Given the description of an element on the screen output the (x, y) to click on. 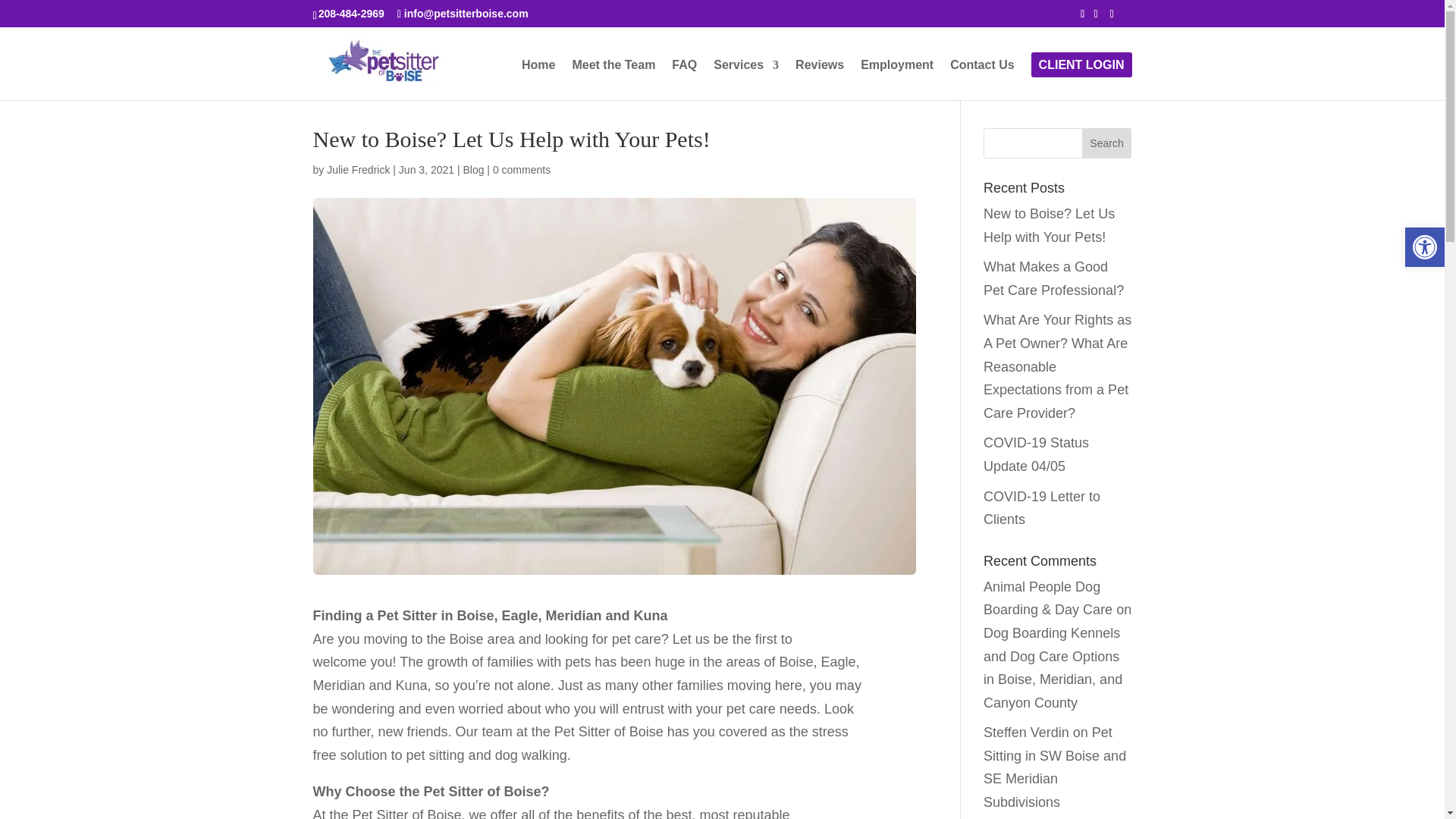
Search (1106, 142)
Reviews (819, 79)
Accessibility Tools (1424, 247)
Meet the Team (613, 79)
CLIENT LOGIN (1081, 79)
Contact Us (981, 79)
Services (745, 79)
Employment (896, 79)
Posts by Julie Fredrick (358, 169)
208-484-2969 (351, 13)
